Given the description of an element on the screen output the (x, y) to click on. 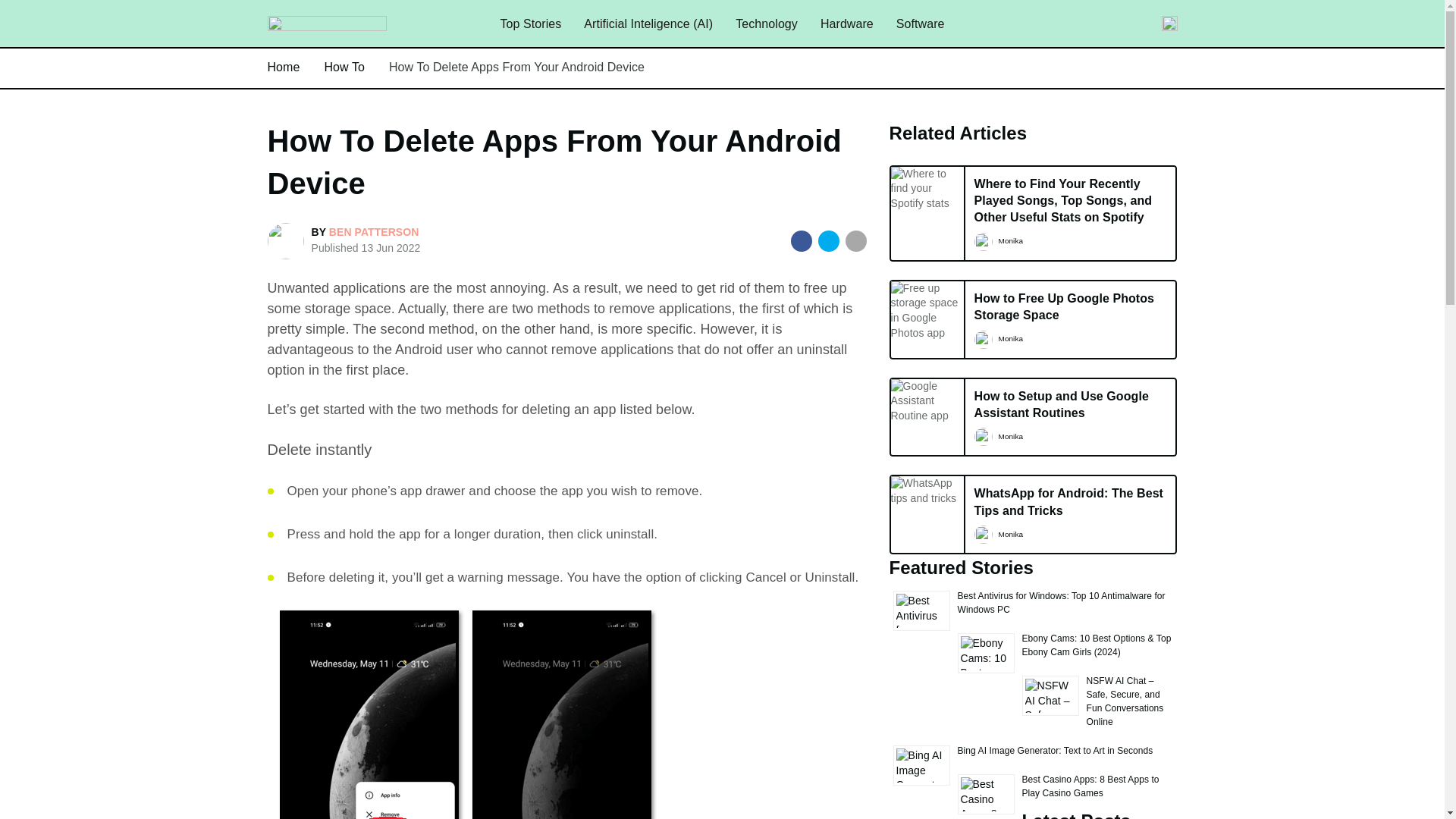
WhatsApp for Android: The Best Tips and Tricks 7 (927, 490)
How To (343, 66)
How to Free Up Google Photos Storage Space 5 (927, 310)
How to Setup and Use Google Assistant Routines 6 (927, 401)
How To Delete Apps From Your Android Device (1033, 514)
Bing AI Image Generator: Text to Art in Seconds (516, 66)
Hardware (1055, 750)
Share to Facebook (1033, 417)
How To Delete Apps From Your Android Device 1 (847, 23)
Software (801, 240)
